Given the description of an element on the screen output the (x, y) to click on. 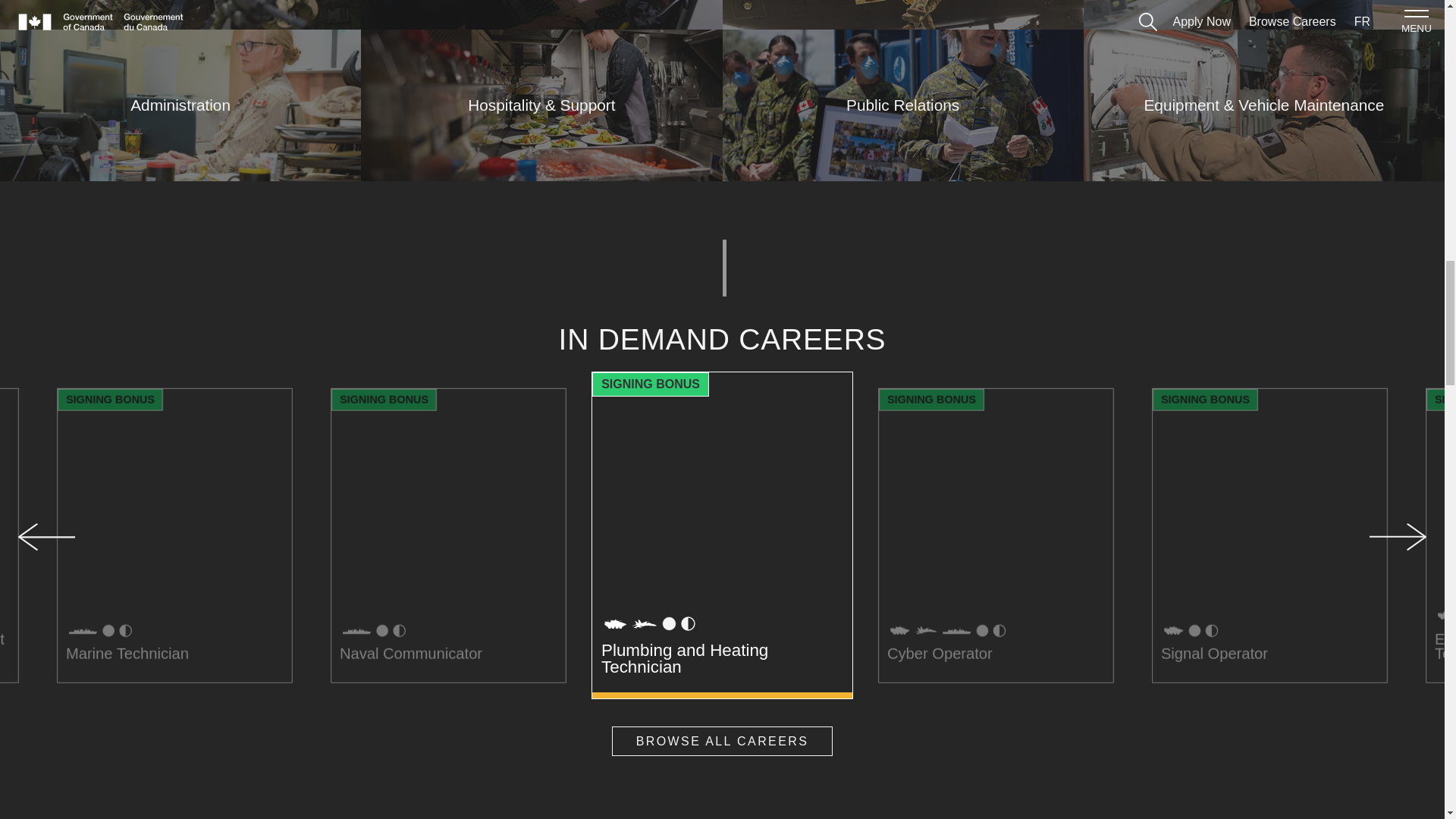
Marine Technician career link (187, 552)
Plumbing and Heating Technician career link (721, 536)
Naval Communicator career link (461, 552)
Cyber Operator career link (1008, 552)
Signal Operator career link (1282, 552)
